Given the description of an element on the screen output the (x, y) to click on. 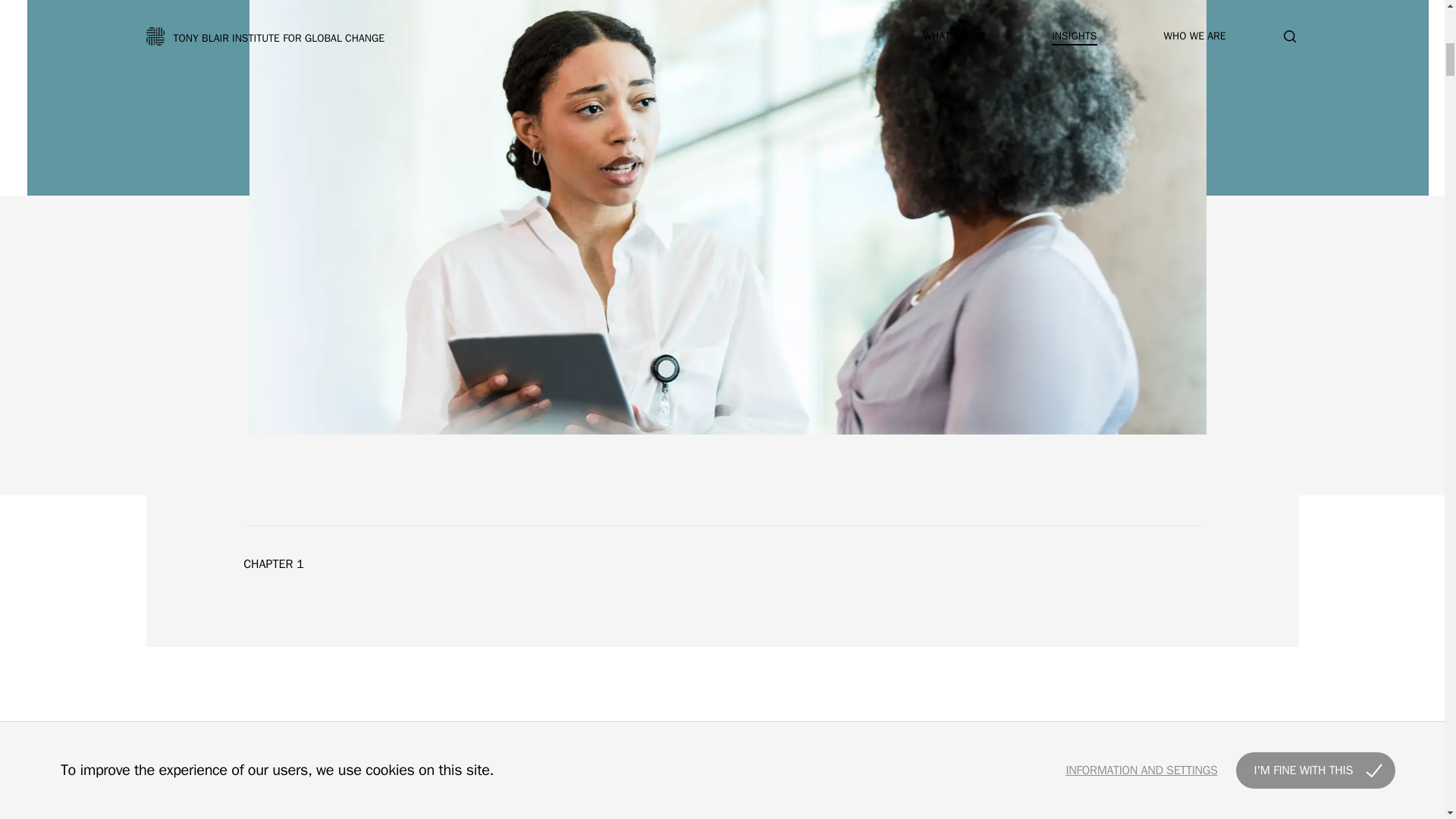
Chapters (1268, 809)
